Given the description of an element on the screen output the (x, y) to click on. 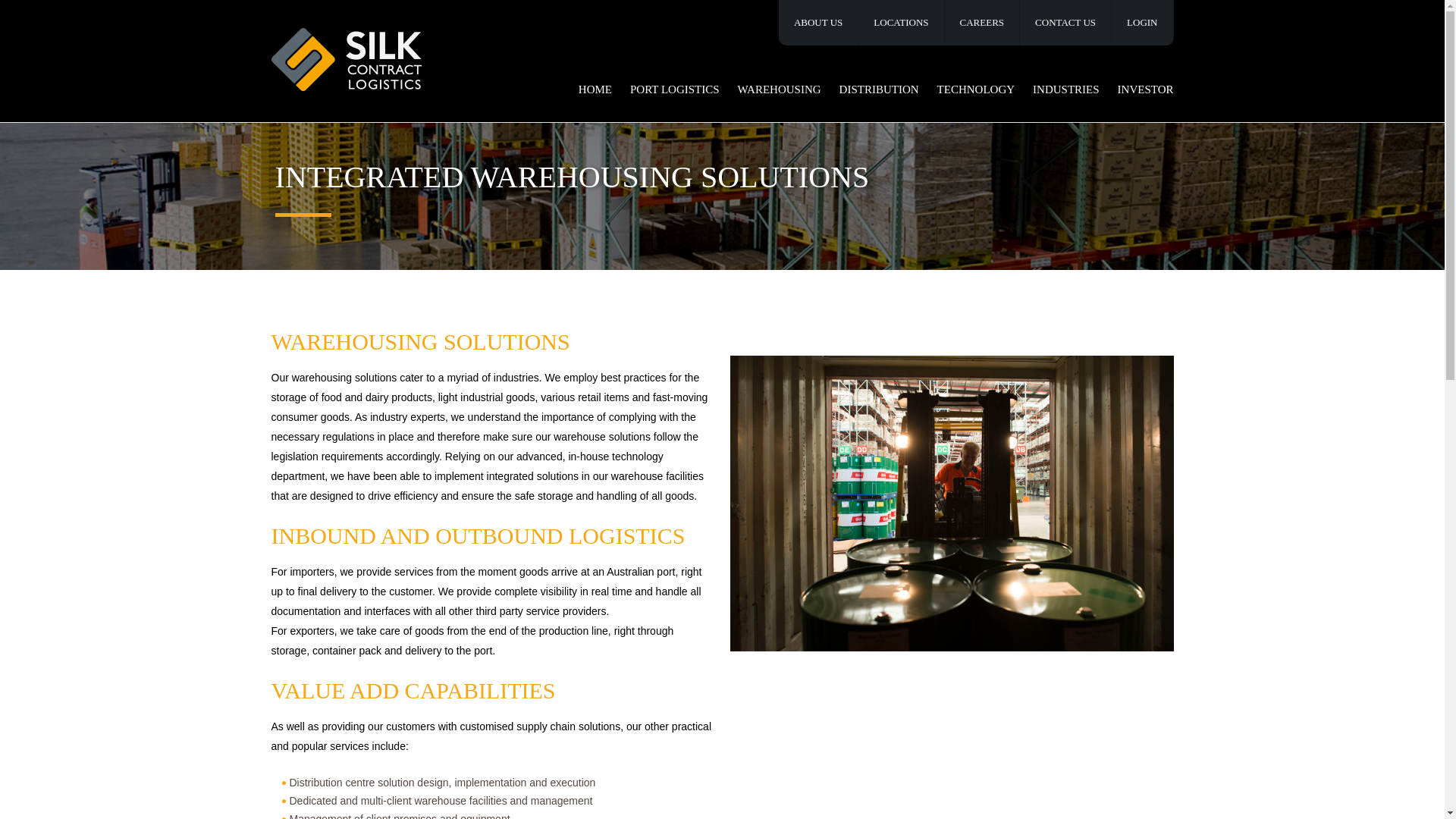
CONTACT US (1066, 22)
WAREHOUSING (779, 91)
INDUSTRIES (1065, 91)
CAREERS (982, 22)
TECHNOLOGY (976, 91)
LOGIN (1142, 22)
ABOUT US (818, 22)
LOCATIONS (901, 22)
DISTRIBUTION (878, 91)
INVESTOR (1140, 91)
PORT LOGISTICS (675, 91)
